Given the description of an element on the screen output the (x, y) to click on. 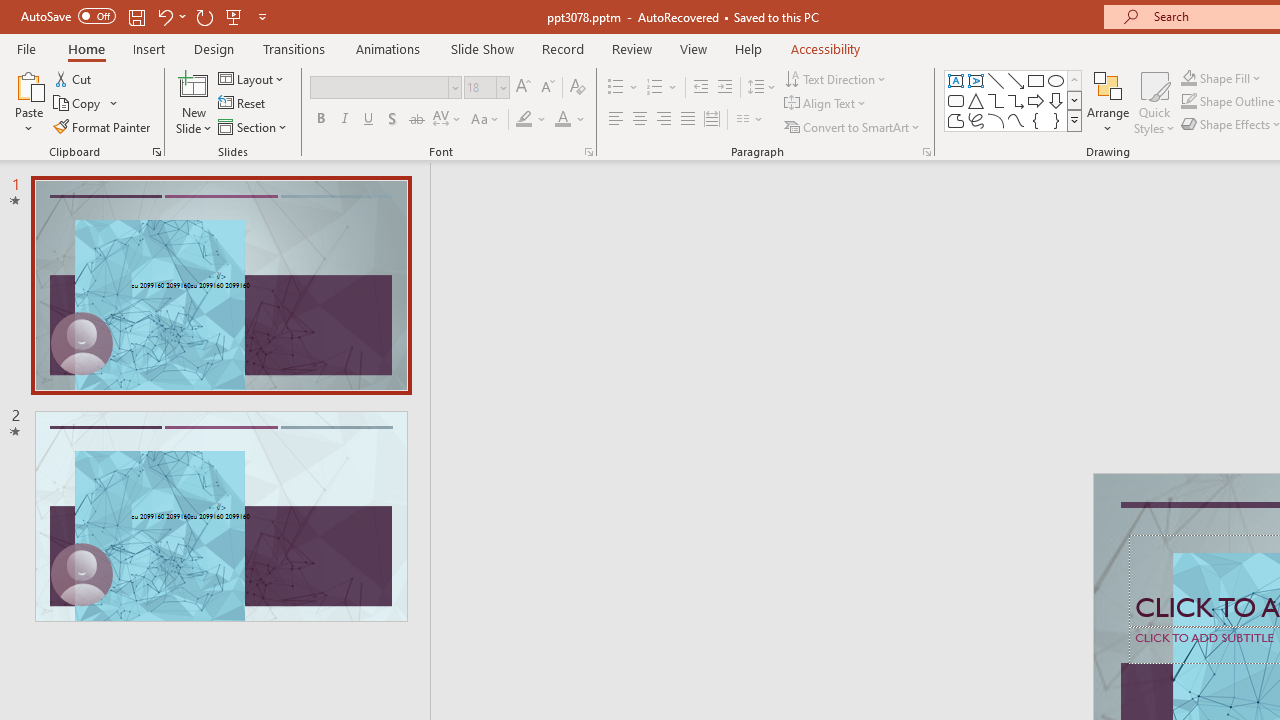
Rectangle: Rounded Corners (955, 100)
Text Highlight Color Yellow (524, 119)
Increase Indent (725, 87)
Columns (750, 119)
Shape Outline Green, Accent 1 (1188, 101)
Rectangle (1035, 80)
Center (639, 119)
Shapes (1074, 120)
